Given the description of an element on the screen output the (x, y) to click on. 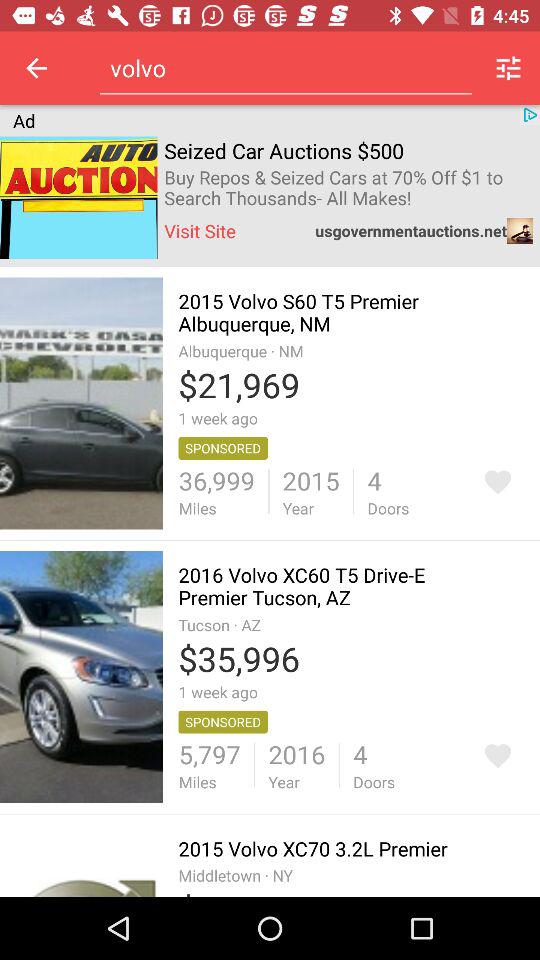
turn on item next to volvo (508, 67)
